Given the description of an element on the screen output the (x, y) to click on. 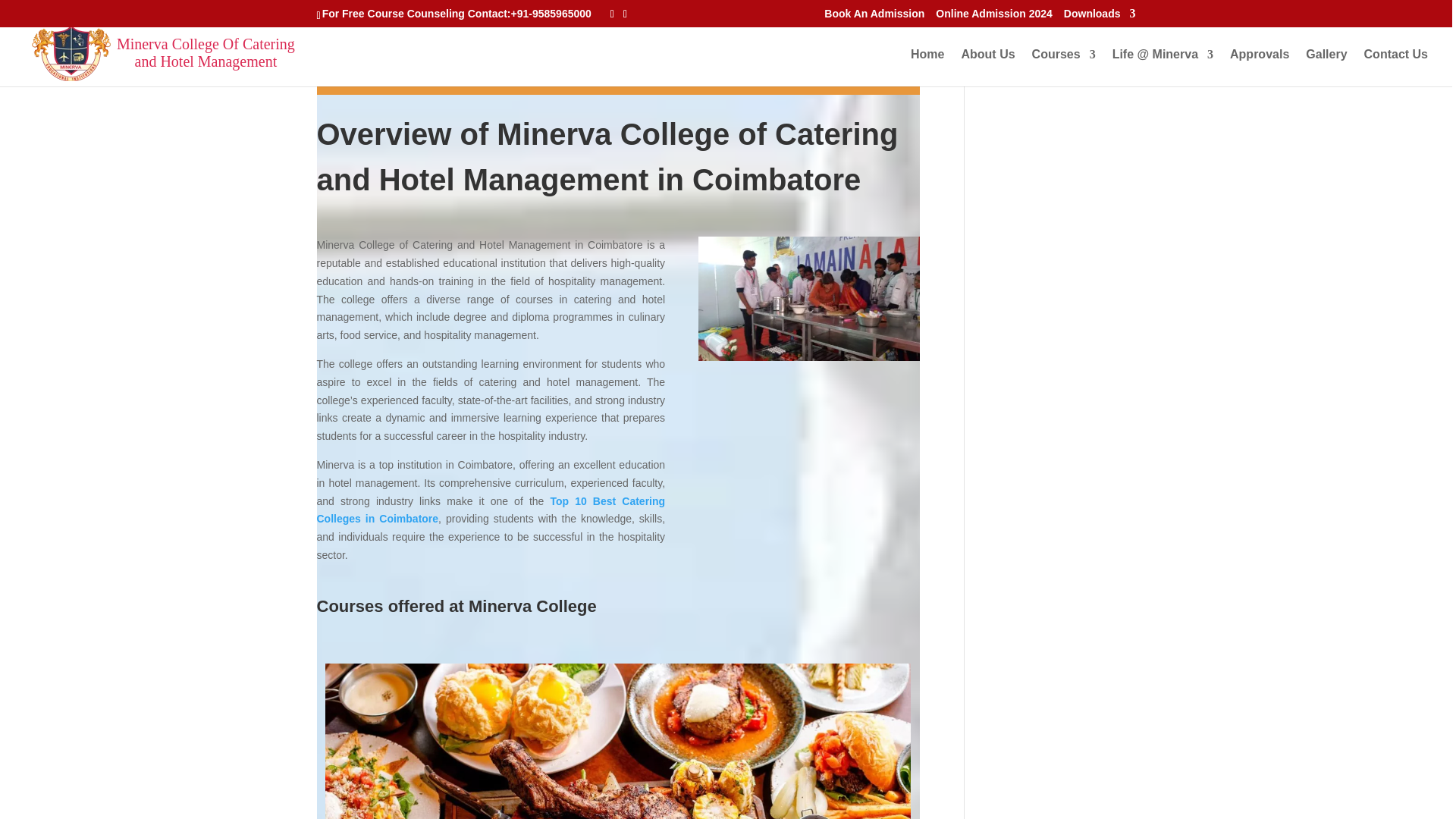
Catering colleges in Coimbatore (617, 741)
Top 10 Best Catering Colleges in Coimbatore (491, 510)
Catering colleges in Coimbatore (809, 298)
